Given the description of an element on the screen output the (x, y) to click on. 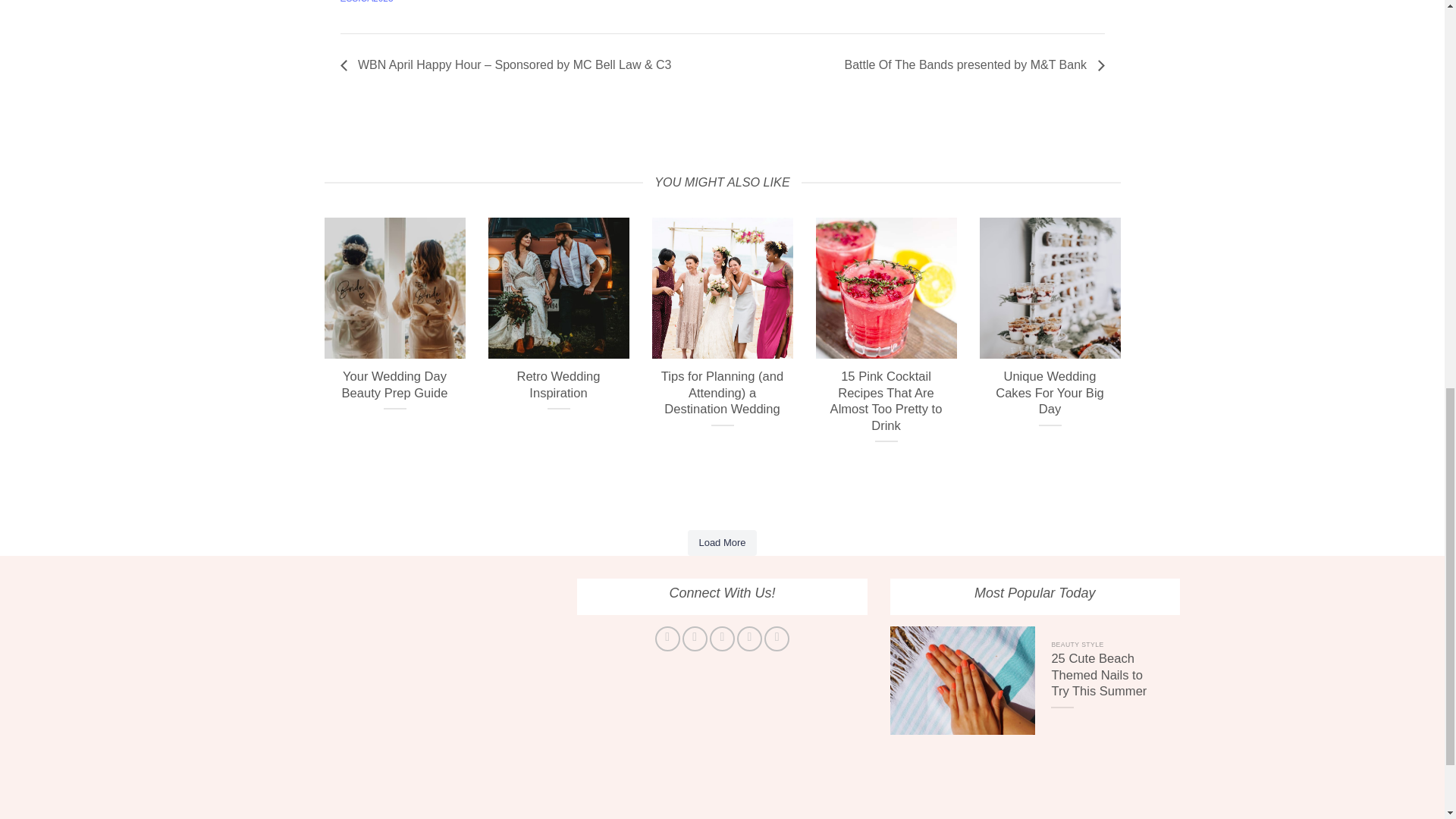
Follow on LinkedIn (776, 638)
Form 0 (409, 686)
Follow on Facebook (667, 638)
Send us an email (722, 638)
Follow on Instagram (694, 638)
Follow on Pinterest (748, 638)
